Given the description of an element on the screen output the (x, y) to click on. 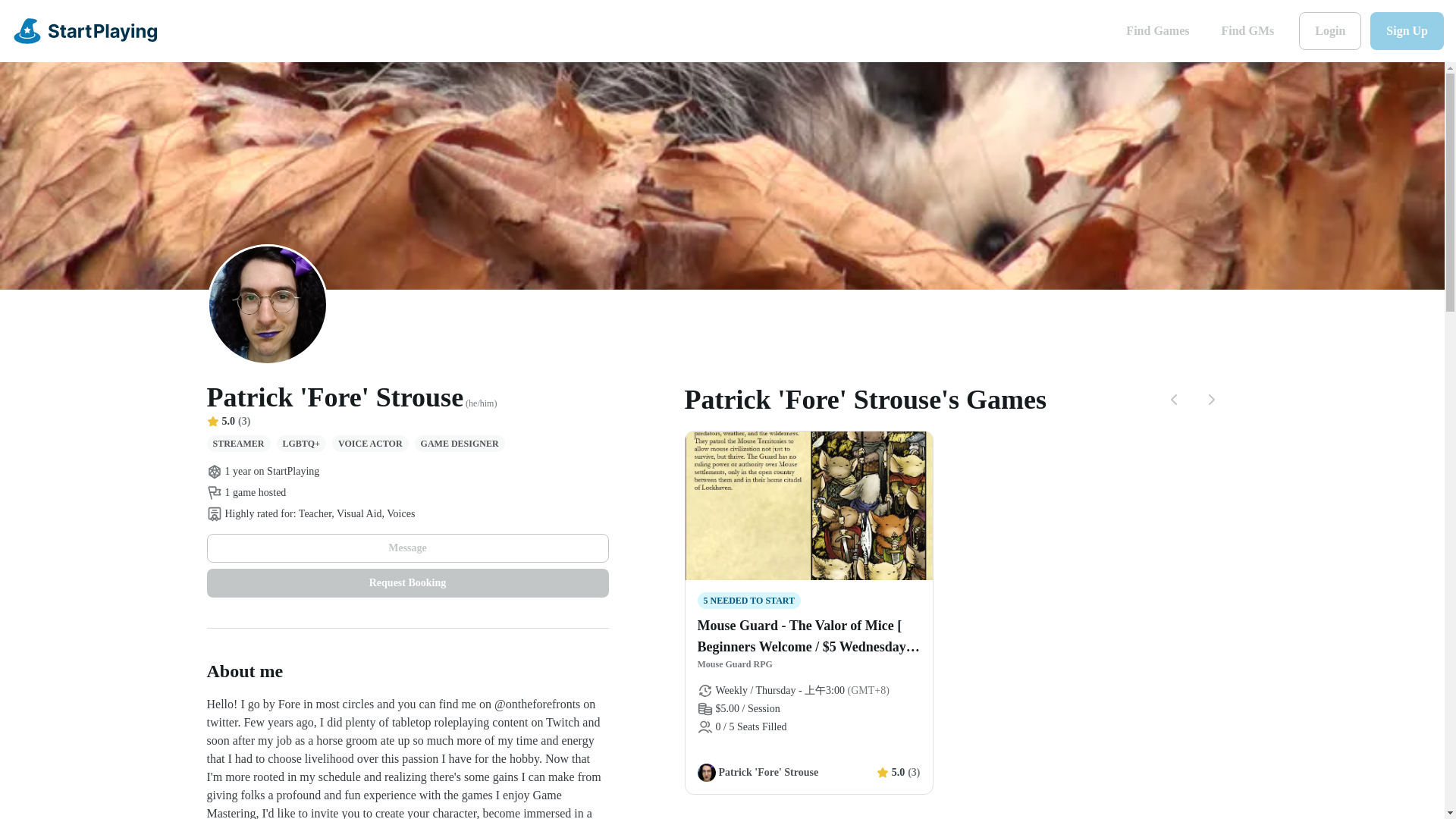
Find GMs (1247, 30)
Sign Up (1407, 30)
Request Booking (407, 582)
Message (407, 547)
Find Games (1157, 30)
Login (1329, 30)
